Given the description of an element on the screen output the (x, y) to click on. 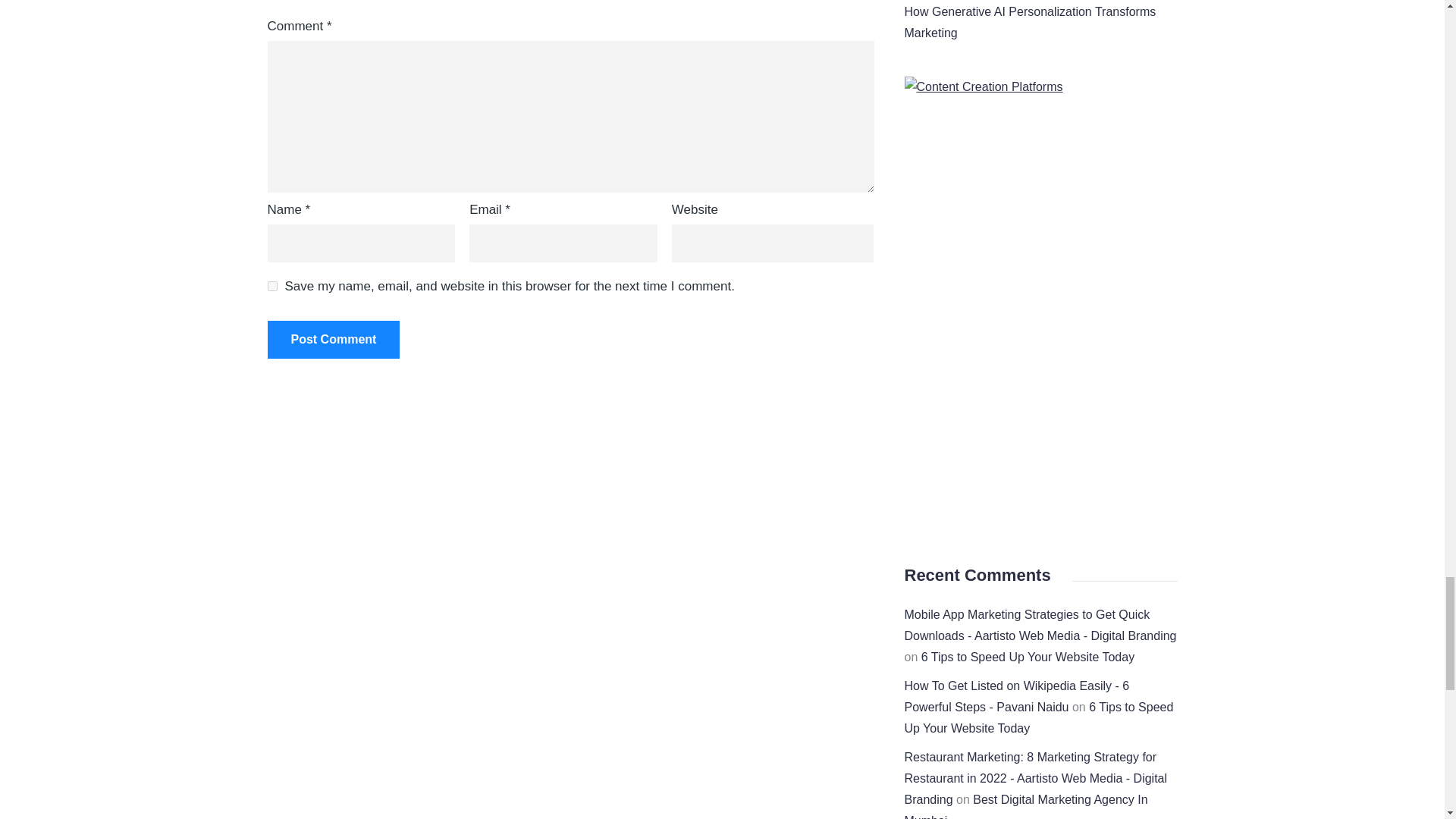
Post Comment (332, 339)
yes (271, 286)
Post Comment (332, 339)
